Given the description of an element on the screen output the (x, y) to click on. 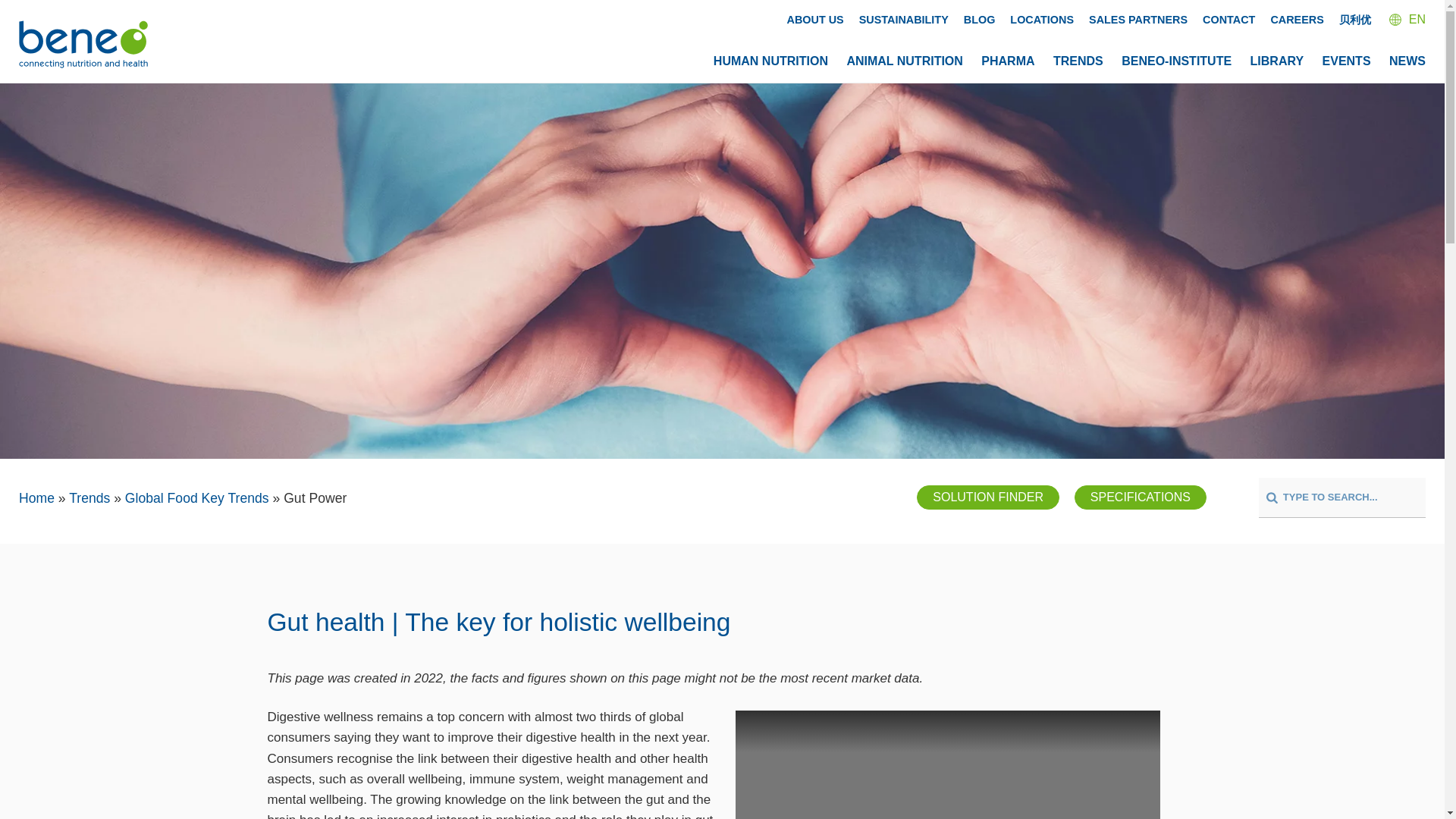
LOCATIONS (1042, 19)
HUMAN NUTRITION (770, 60)
BLOG (979, 19)
SALES PARTNERS (1138, 19)
CONTACT (1228, 19)
CAREERS (1296, 19)
EN (1407, 19)
ABOUT US (815, 19)
SUSTAINABILITY (904, 19)
